Given the description of an element on the screen output the (x, y) to click on. 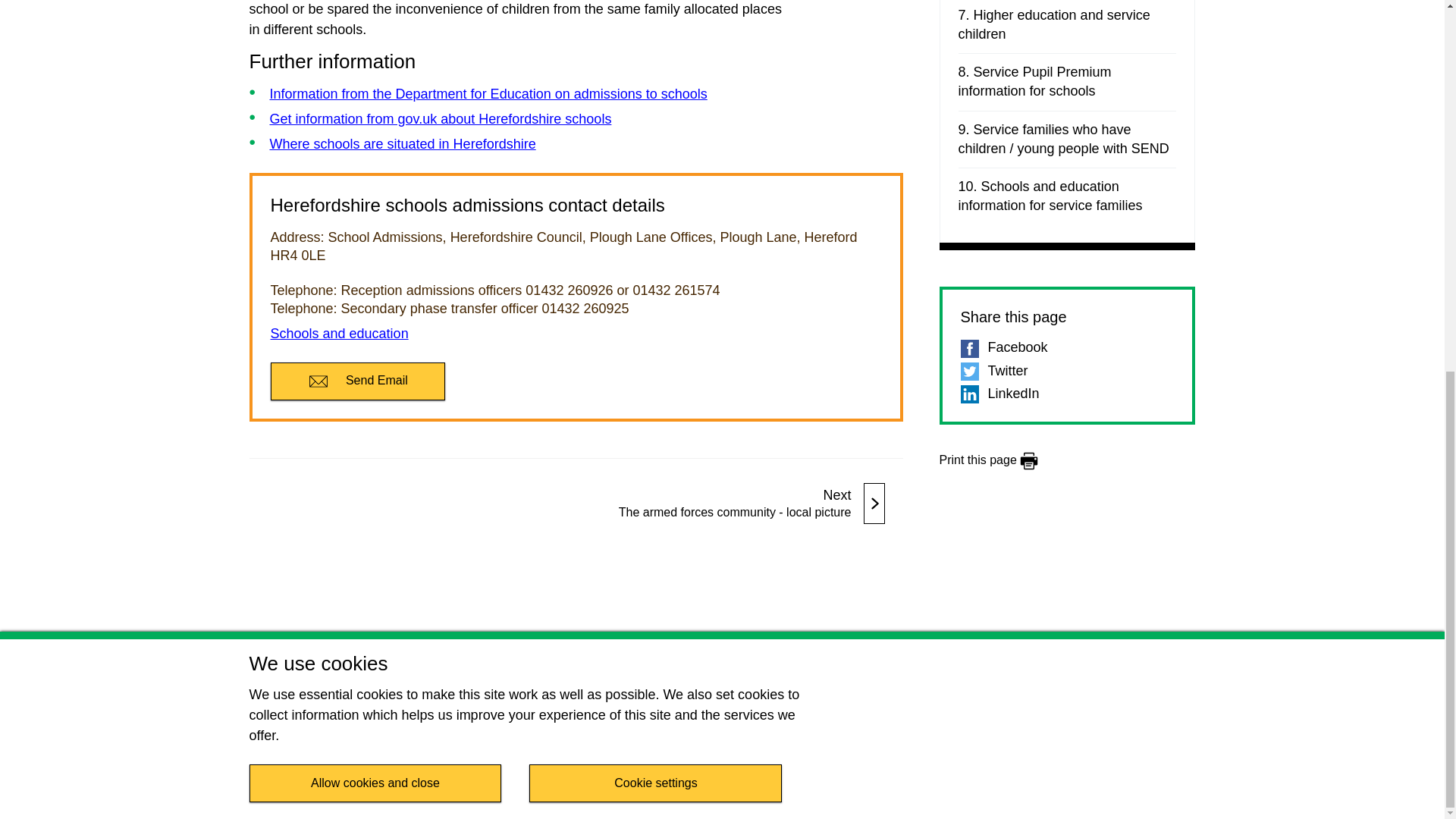
Facebook (1066, 348)
Send Email (356, 381)
Allow cookies and close (374, 106)
Where schools are situated in Herefordshire (402, 143)
Service Pupil Premium information for schools (1067, 81)
Follow us on Twitter (260, 738)
Higher education and service children (1067, 24)
Get information from gov.uk about Herefordshire schools (440, 118)
Schools and education information for service families (1067, 196)
Cookie settings (655, 106)
Find us on Facebook (260, 687)
Herefordshire Council Home Page (1081, 698)
Follow us on Instagram (260, 790)
Schools and education (338, 334)
